Given the description of an element on the screen output the (x, y) to click on. 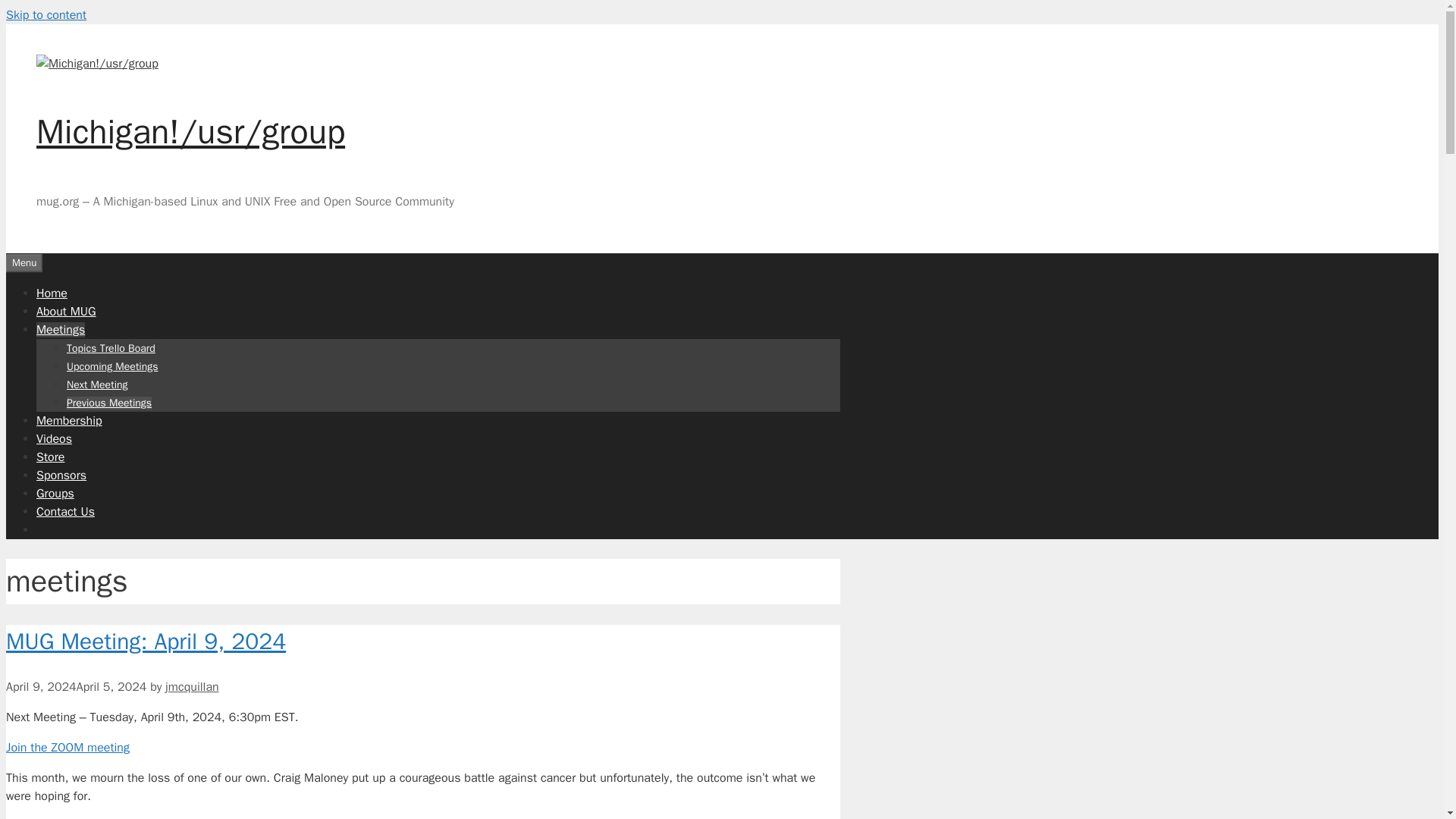
Meetings (60, 328)
Membership (68, 419)
Menu (23, 262)
Home (51, 292)
View all posts by jmcquillan (191, 686)
Contact Us (65, 510)
Skip to content (45, 14)
jmcquillan (191, 686)
Sponsors (60, 474)
Videos (53, 437)
Skip to content (45, 14)
Join the ZOOM meeting (67, 747)
About MUG (66, 310)
Topics Trello Board (110, 347)
Upcoming Meetings (112, 365)
